Given the description of an element on the screen output the (x, y) to click on. 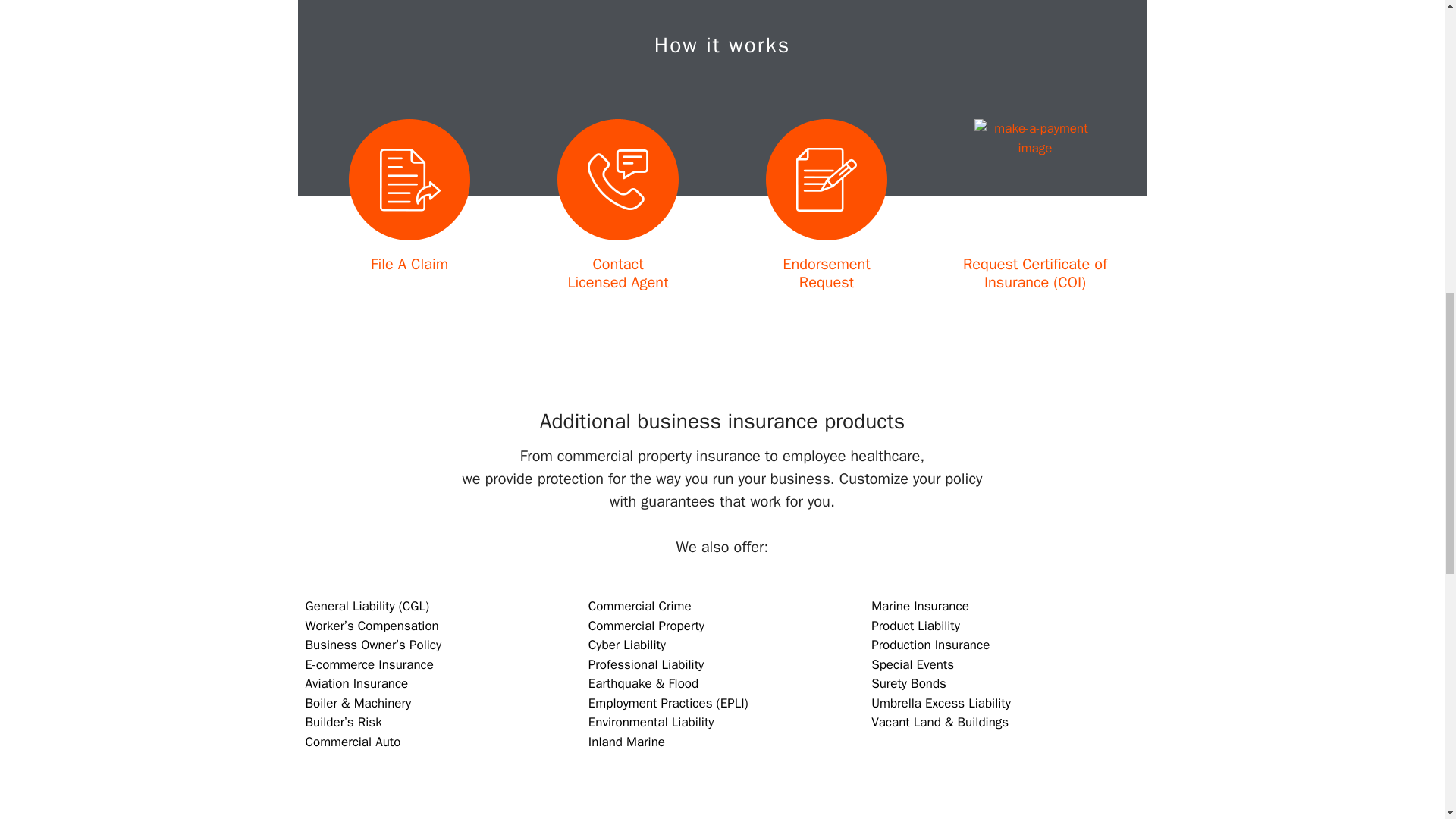
Aviation Insurance (355, 683)
Commercial Auto (617, 272)
File A Claim (352, 741)
E-commerce Insurance (826, 272)
Commercial Crime (409, 263)
